Given the description of an element on the screen output the (x, y) to click on. 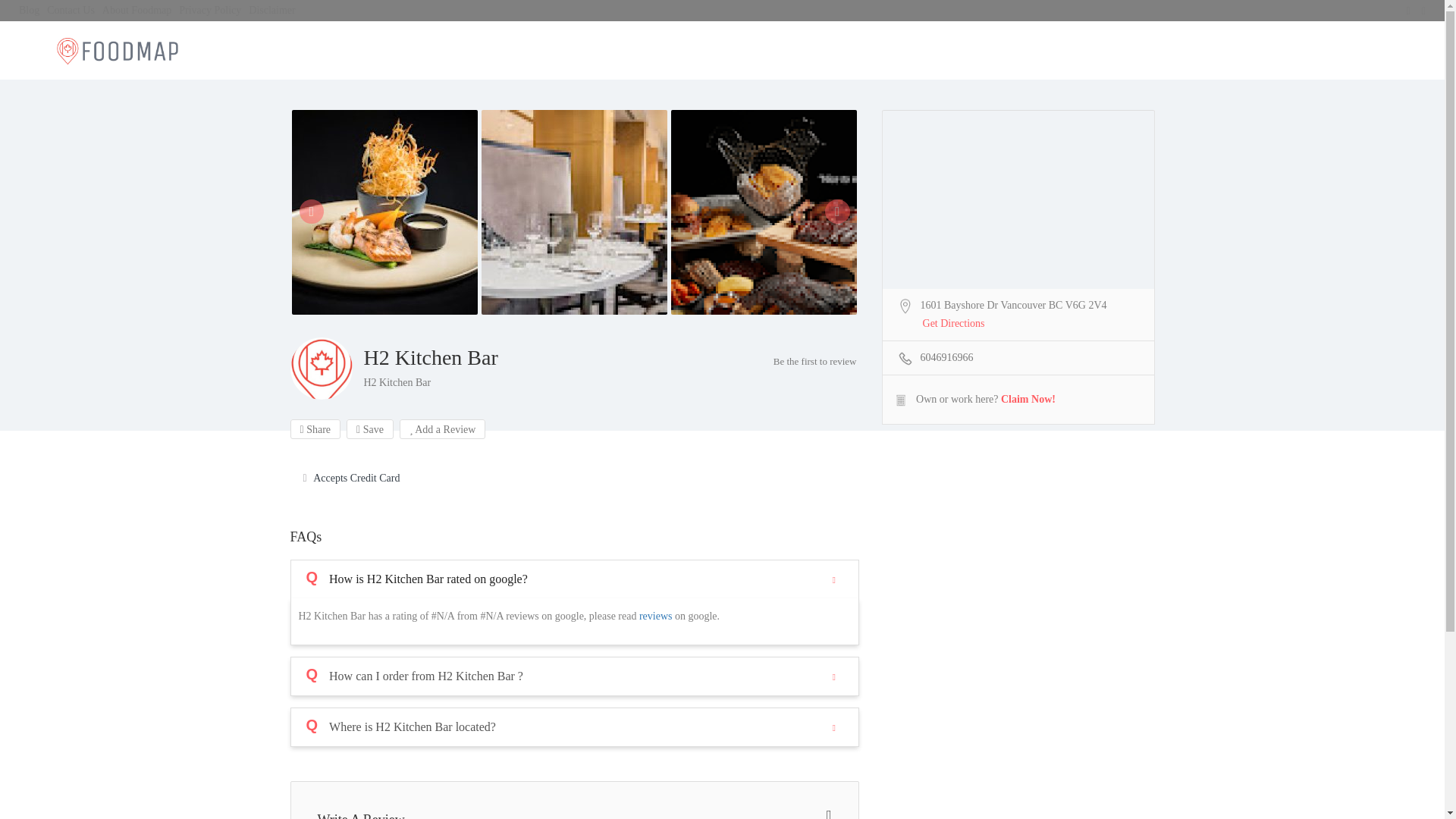
Contact Us (70, 9)
Privacy Policy (210, 9)
Submit (413, 502)
Blog (28, 9)
About Foodmap (136, 9)
Disclaimer (271, 9)
